Given the description of an element on the screen output the (x, y) to click on. 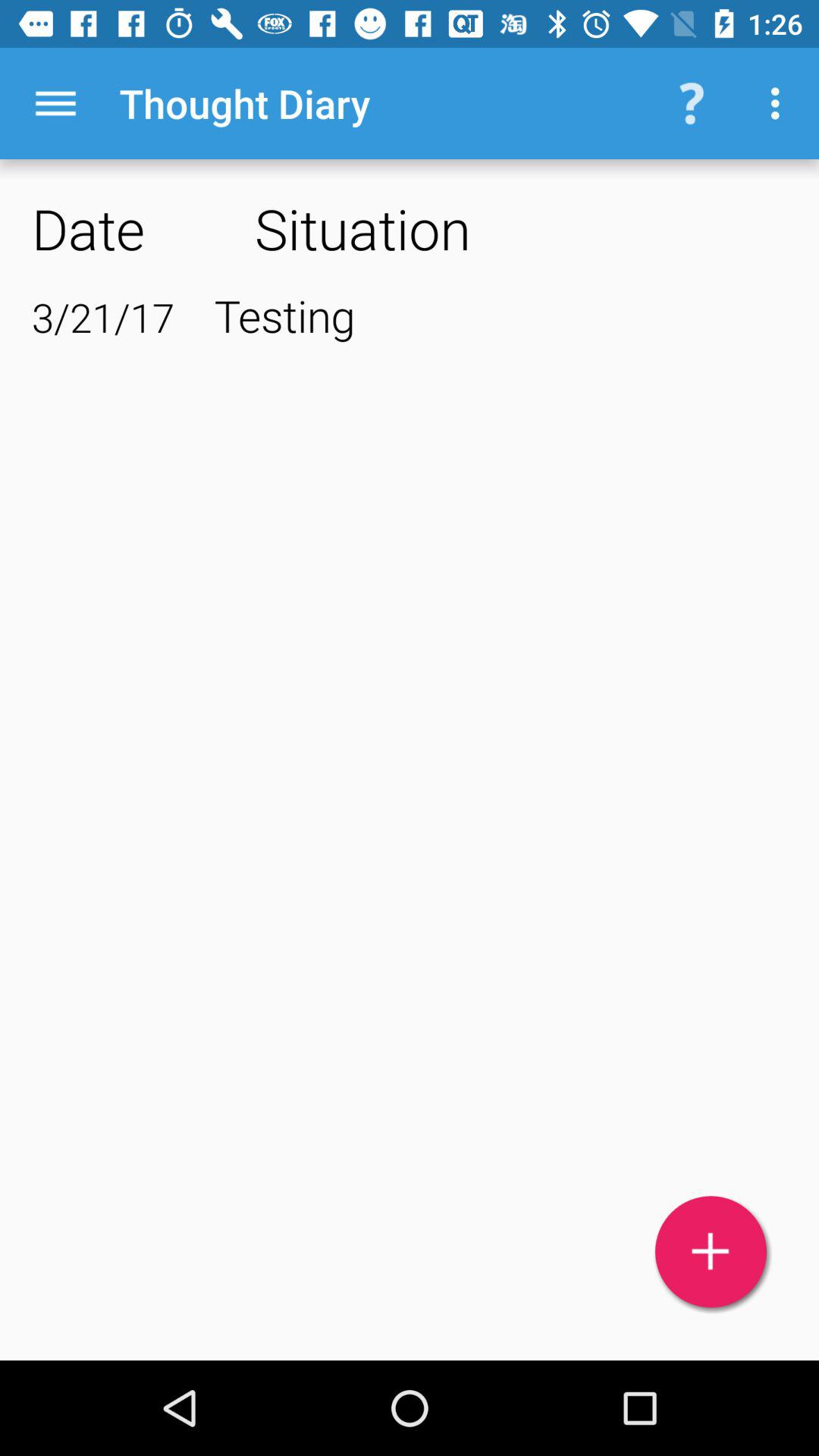
press icon next to the thought diary (55, 103)
